Given the description of an element on the screen output the (x, y) to click on. 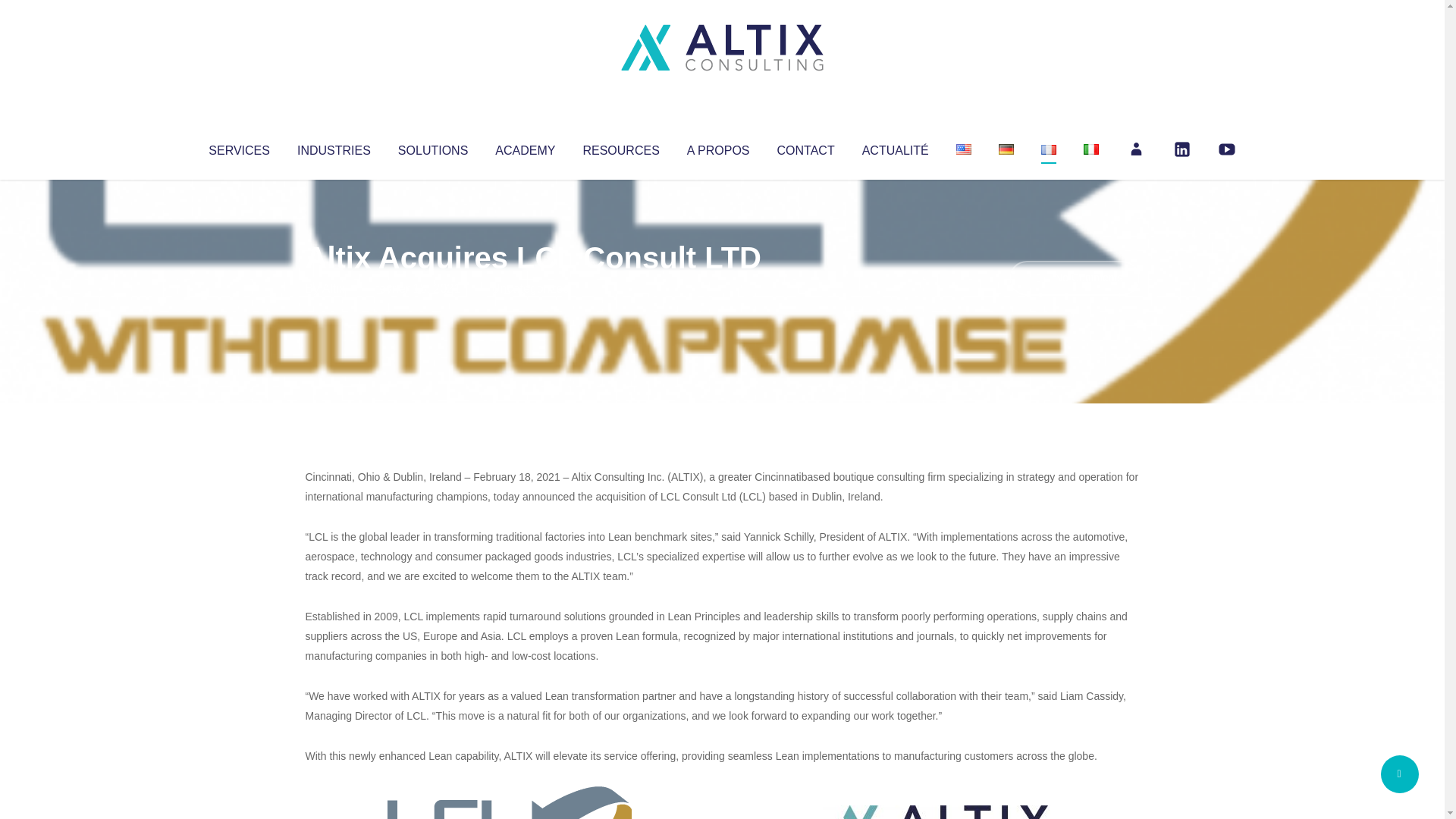
No Comments (1073, 278)
Altix (333, 287)
Articles par Altix (333, 287)
SOLUTIONS (432, 146)
ACADEMY (524, 146)
A PROPOS (718, 146)
INDUSTRIES (334, 146)
Uncategorized (530, 287)
RESOURCES (620, 146)
SERVICES (238, 146)
